Given the description of an element on the screen output the (x, y) to click on. 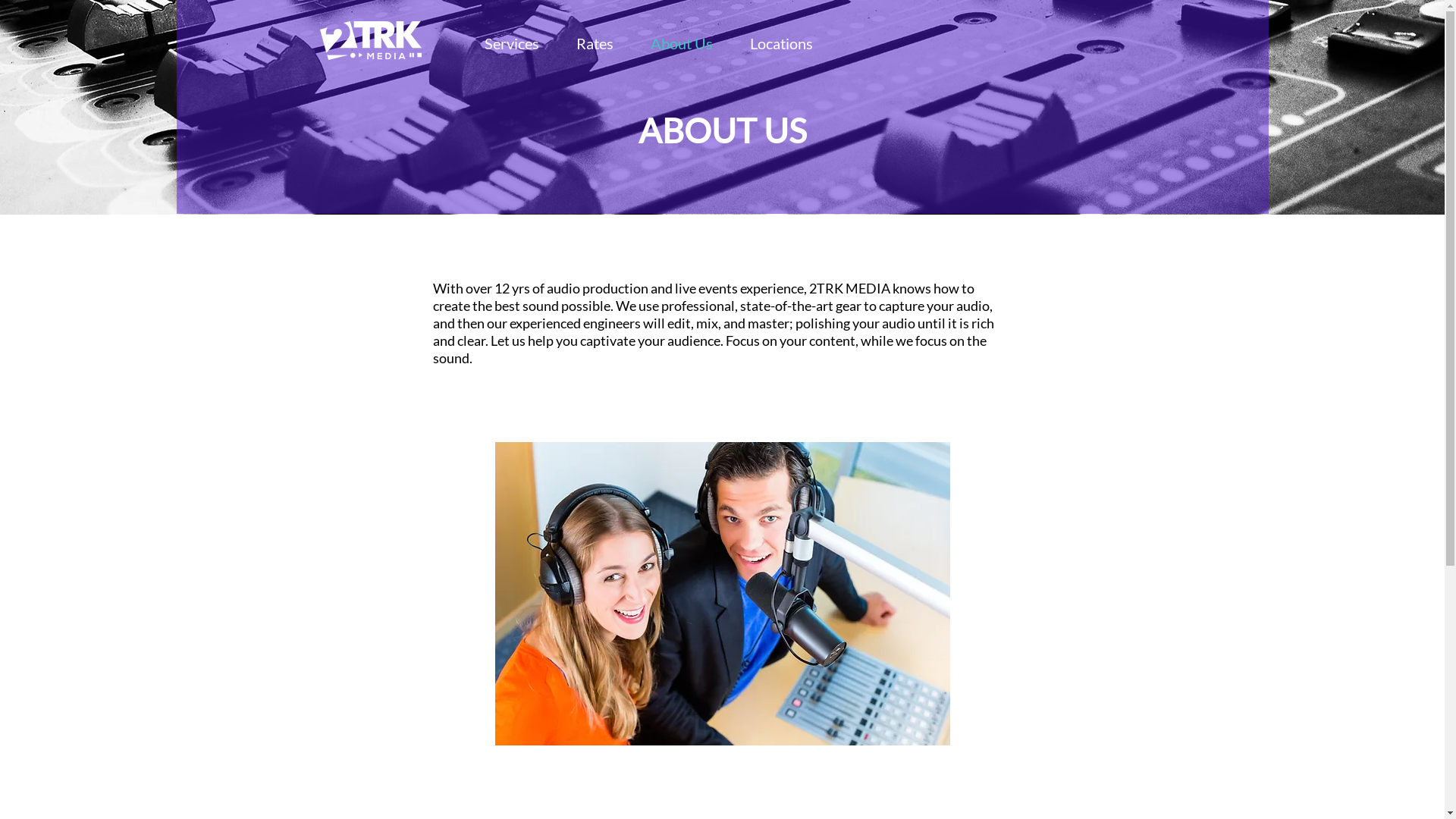
Services Element type: text (511, 42)
Rates Element type: text (595, 42)
Locations Element type: text (781, 42)
About Us Element type: text (681, 42)
